Given the description of an element on the screen output the (x, y) to click on. 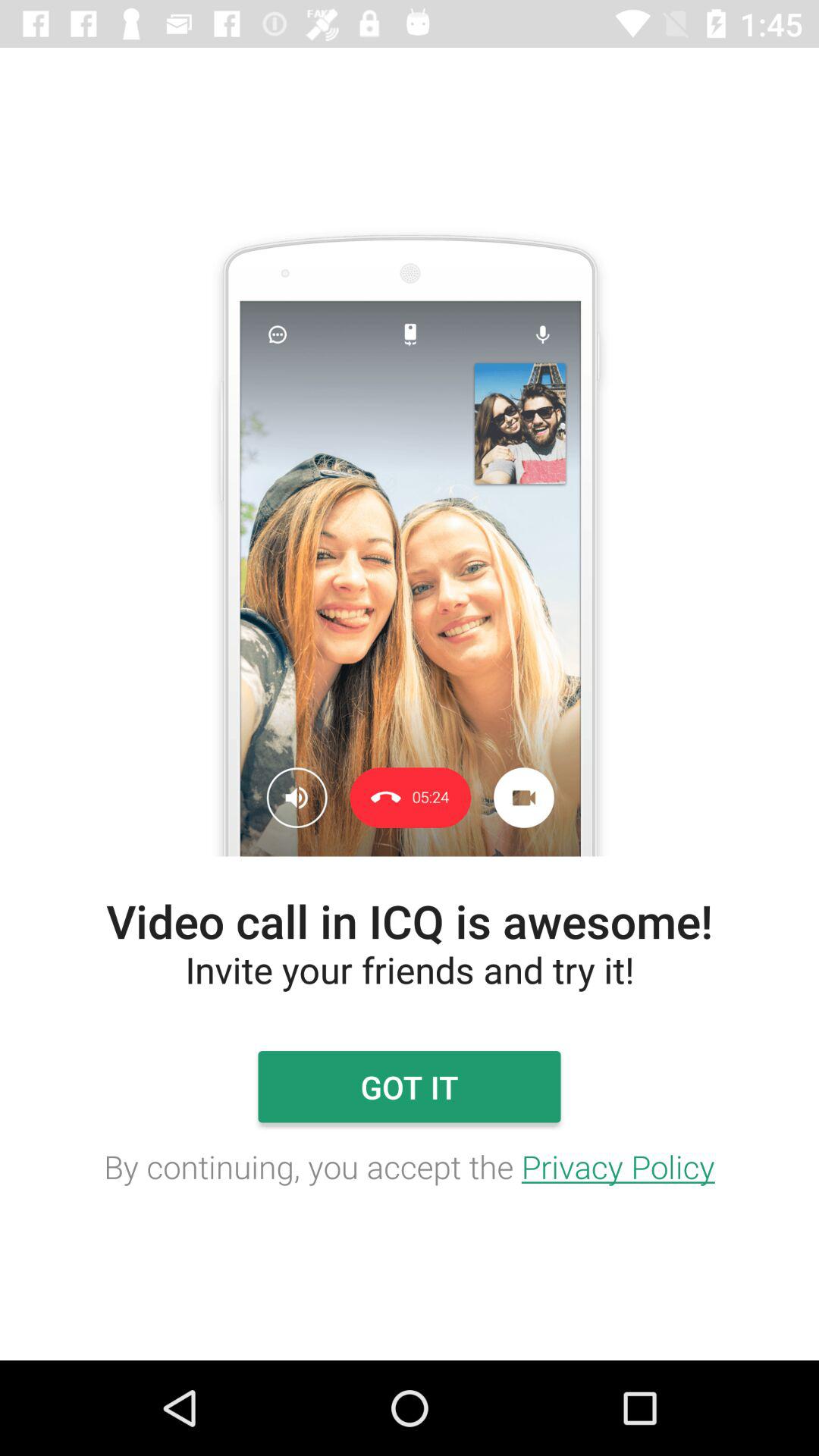
select the item below got it item (409, 1166)
